Given the description of an element on the screen output the (x, y) to click on. 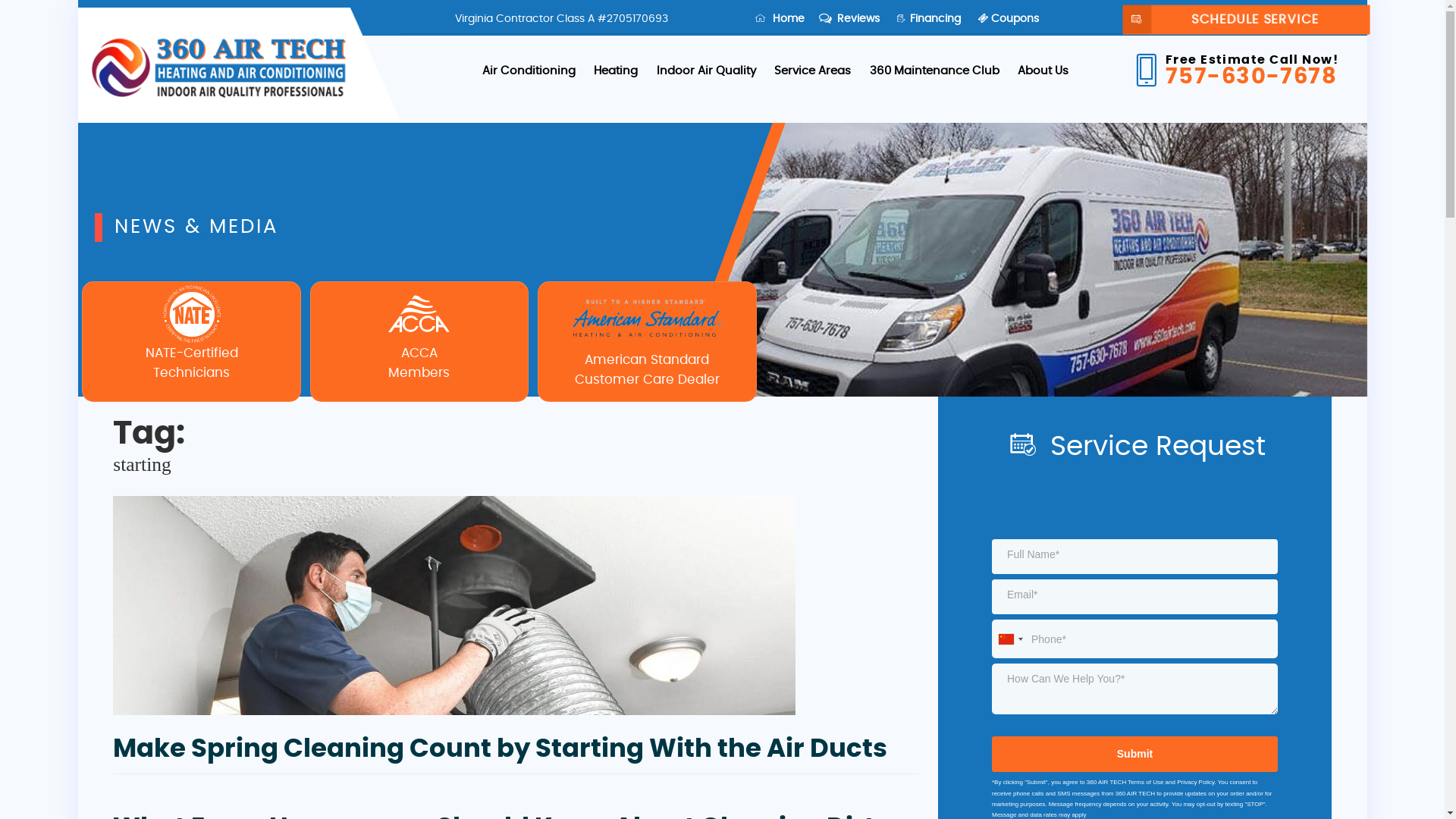
Free Estimate Call Now!
757-630-7678 Element type: text (1246, 71)
SCHEDULE SERVICE Element type: text (1244, 18)
Home Element type: text (779, 18)
Coupons Element type: text (1008, 18)
Reviews Element type: text (850, 18)
360 Maintenance Club Element type: text (934, 70)
Make Spring Cleaning Count by Starting With the Air Ducts Element type: text (499, 749)
About Us Element type: text (1042, 70)
Air Conditioning Element type: text (528, 70)
Heating Element type: text (615, 70)
Financing Element type: text (928, 18)
Indoor Air Quality Element type: text (706, 70)
Service Areas Element type: text (812, 70)
